Given the description of an element on the screen output the (x, y) to click on. 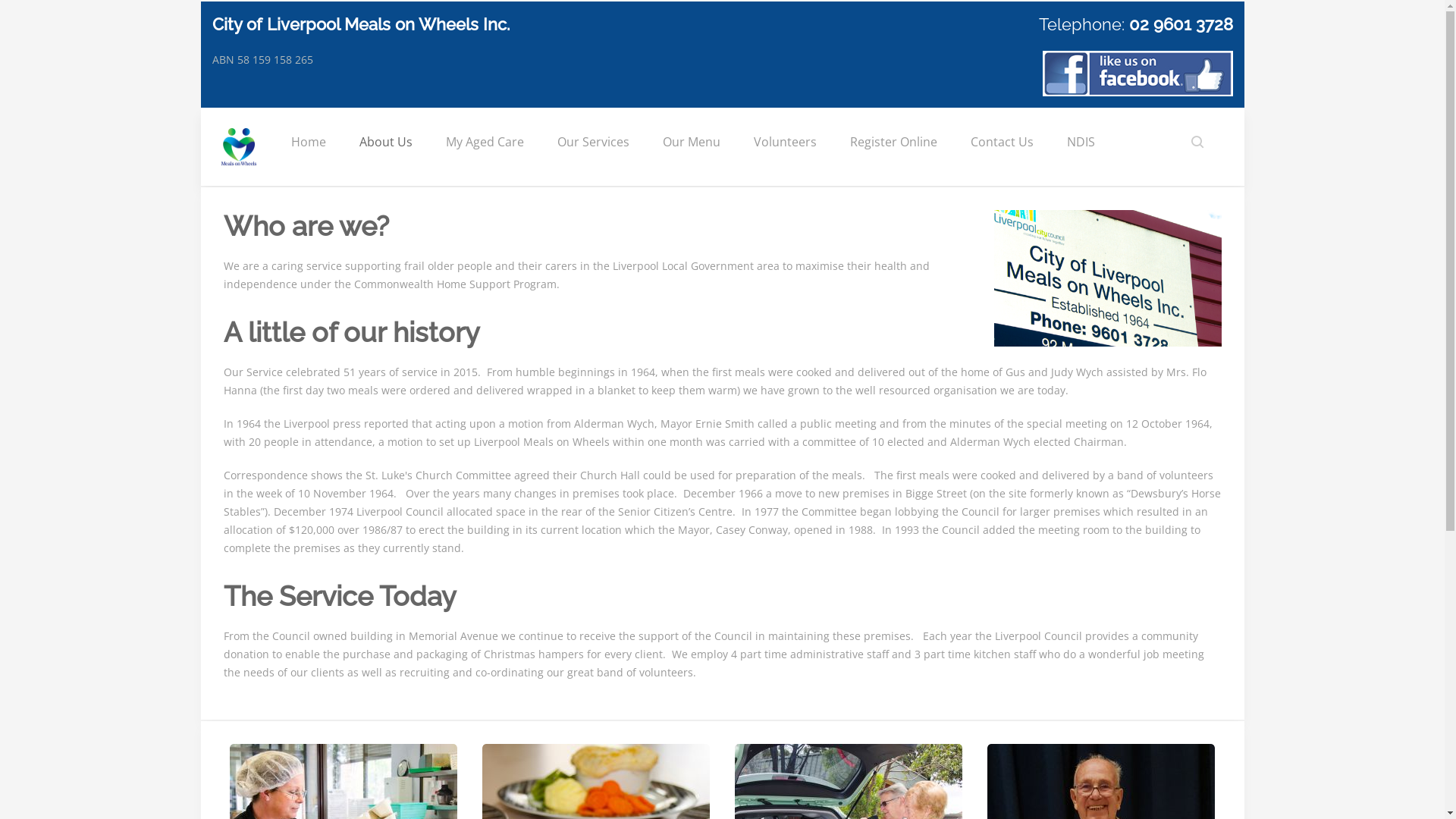
Our Services Element type: text (592, 141)
Contact Us Element type: text (1001, 141)
My Aged Care Element type: text (484, 141)
Volunteers Element type: text (785, 141)
Register Online Element type: text (892, 141)
About Us Element type: text (385, 141)
Our Menu Element type: text (691, 141)
Home Element type: text (308, 141)
NDIS Element type: text (1079, 141)
